Given the description of an element on the screen output the (x, y) to click on. 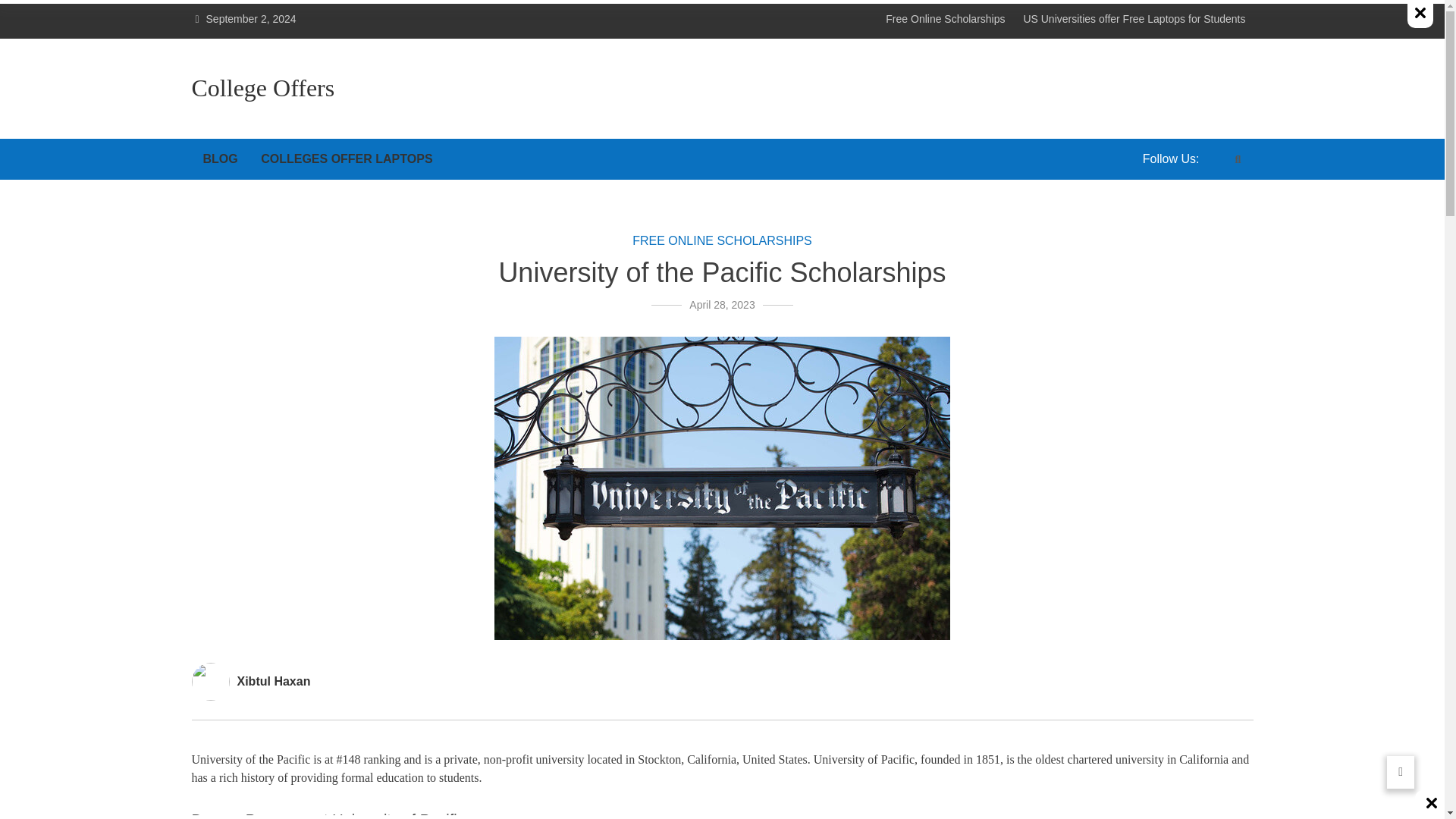
Free Online Scholarships (944, 19)
FREE ONLINE SCHOLARSHIPS (721, 240)
College Offers (262, 88)
US Universities offer Free Laptops for Students (1133, 19)
Xibtul Haxan (272, 680)
COLLEGES OFFER LAPTOPS (346, 158)
BLOG (219, 158)
April 28, 2023 (721, 304)
